Given the description of an element on the screen output the (x, y) to click on. 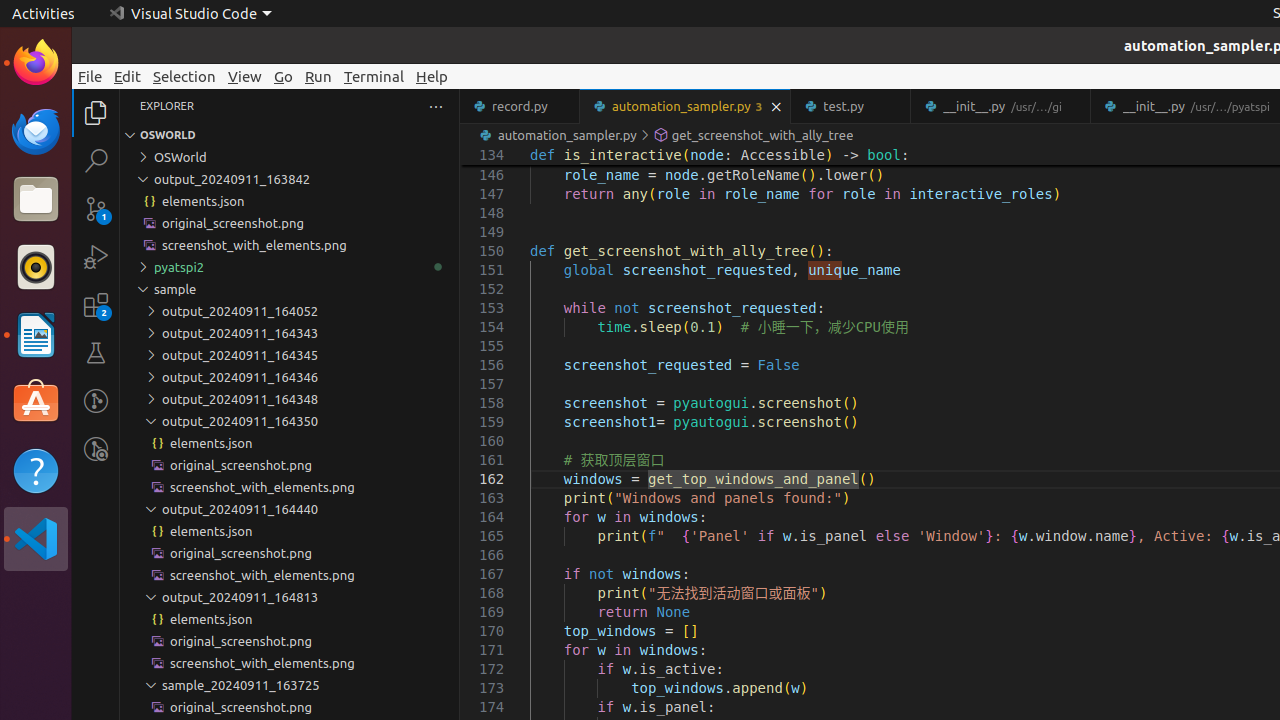
Go Element type: push-button (283, 76)
original_screenshot.png Element type: tree-item (289, 707)
Extensions (Ctrl+Shift+X) - 2 require update Element type: page-tab (96, 305)
output_20240911_164345 Element type: tree-item (289, 355)
Terminal Element type: push-button (374, 76)
